Given the description of an element on the screen output the (x, y) to click on. 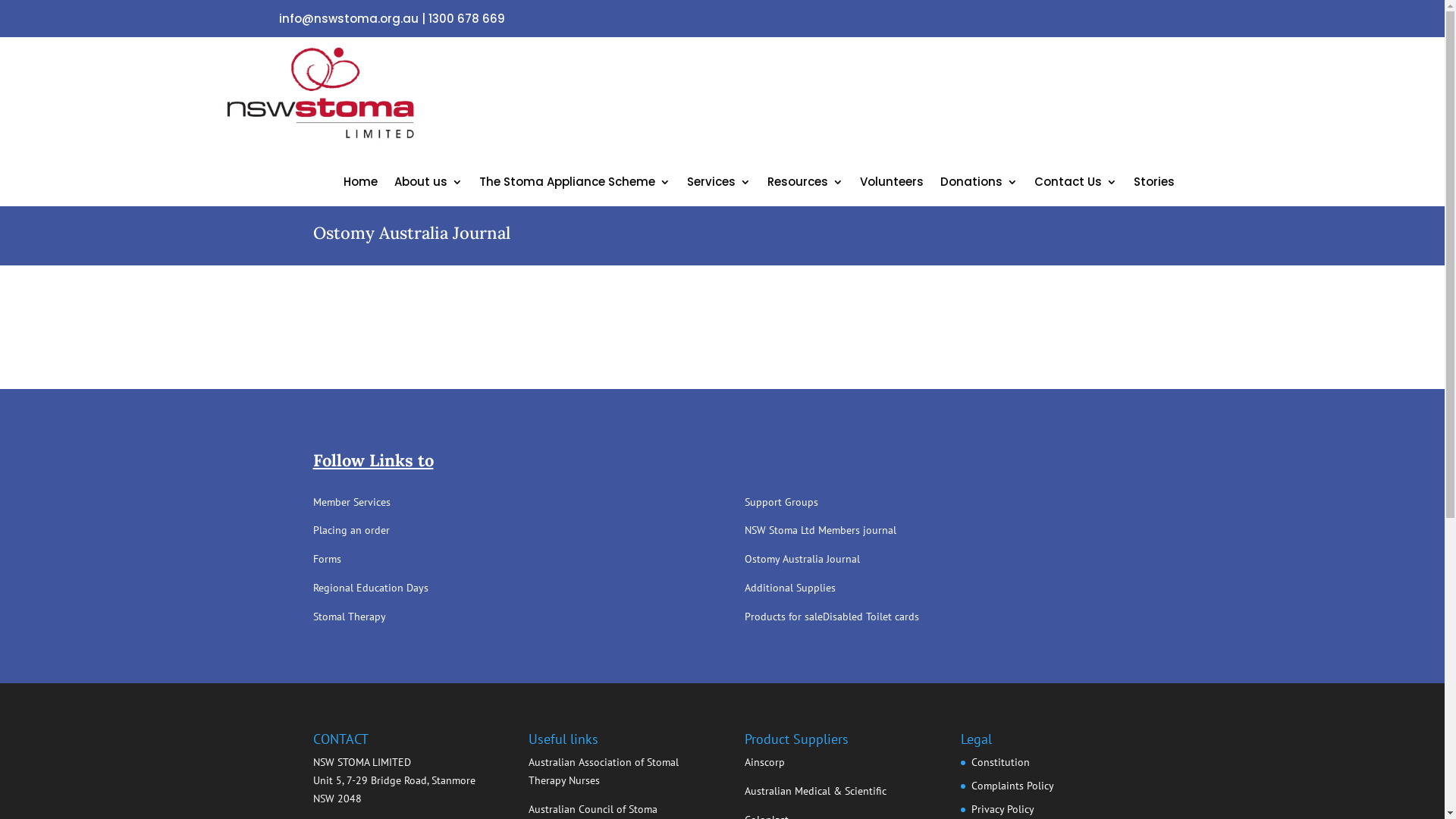
Picture1 Element type: hover (265, 65)
Forms Element type: text (326, 558)
Member Services Element type: text (350, 501)
Stories Element type: text (1153, 184)
Privacy Policy Element type: text (1002, 808)
NSW Stoma Ltd Members journal Element type: text (820, 529)
Home Element type: text (360, 184)
Donations Element type: text (978, 184)
The Stoma Appliance Scheme Element type: text (574, 184)
Regional Education Days Element type: text (369, 587)
Placing an order Element type: text (350, 529)
info@nswstoma.org.au Element type: text (348, 18)
Volunteers Element type: text (891, 184)
Support Groups Element type: text (781, 501)
Ainscorp Element type: text (764, 761)
Ostomy Australia Journal Element type: text (801, 558)
Stomal Therapy Element type: text (348, 616)
Contact Us Element type: text (1075, 184)
Disabled Toilet cards Element type: text (870, 616)
Australian Medical & Scientific Element type: text (815, 790)
Products for sale Element type: text (783, 616)
Additional Supplies Element type: text (789, 587)
About us Element type: text (428, 184)
Complaints Policy Element type: text (1012, 785)
Services Element type: text (718, 184)
Resources Element type: text (805, 184)
Constitution Element type: text (1000, 761)
Australian Association of Stomal Therapy Nurses Element type: text (603, 771)
